Given the description of an element on the screen output the (x, y) to click on. 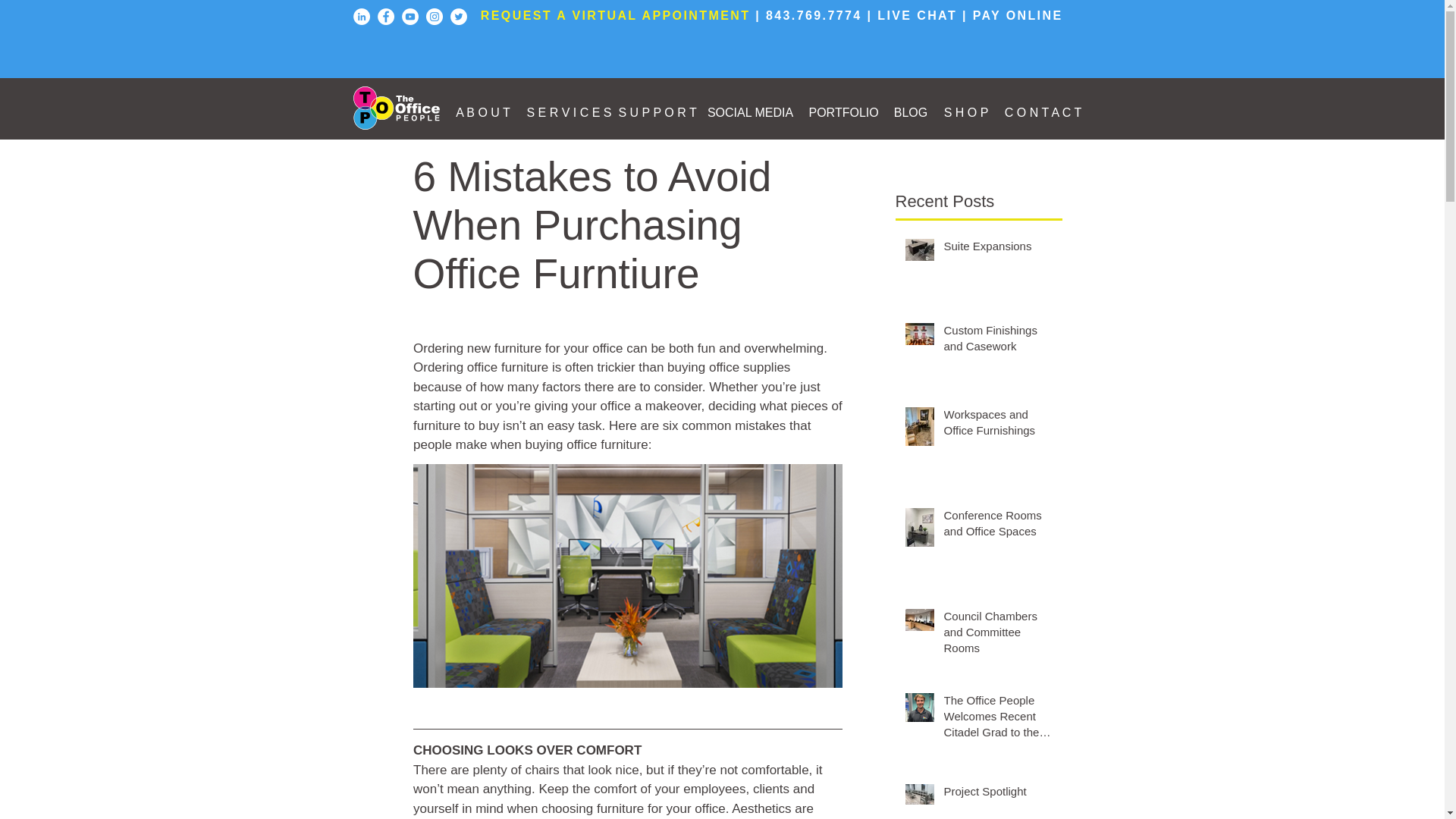
S U P P O R T (655, 112)
SOCIAL MEDIA (749, 112)
S H O P (965, 112)
843.769.7774 (813, 15)
PAY ONLINE (1017, 15)
C O N T A C T (1042, 112)
REQUEST A VIRTUAL APPOINTMENT (615, 15)
LIVE CHAT (916, 15)
PORTFOLIO (842, 112)
BLOG (910, 112)
